Given the description of an element on the screen output the (x, y) to click on. 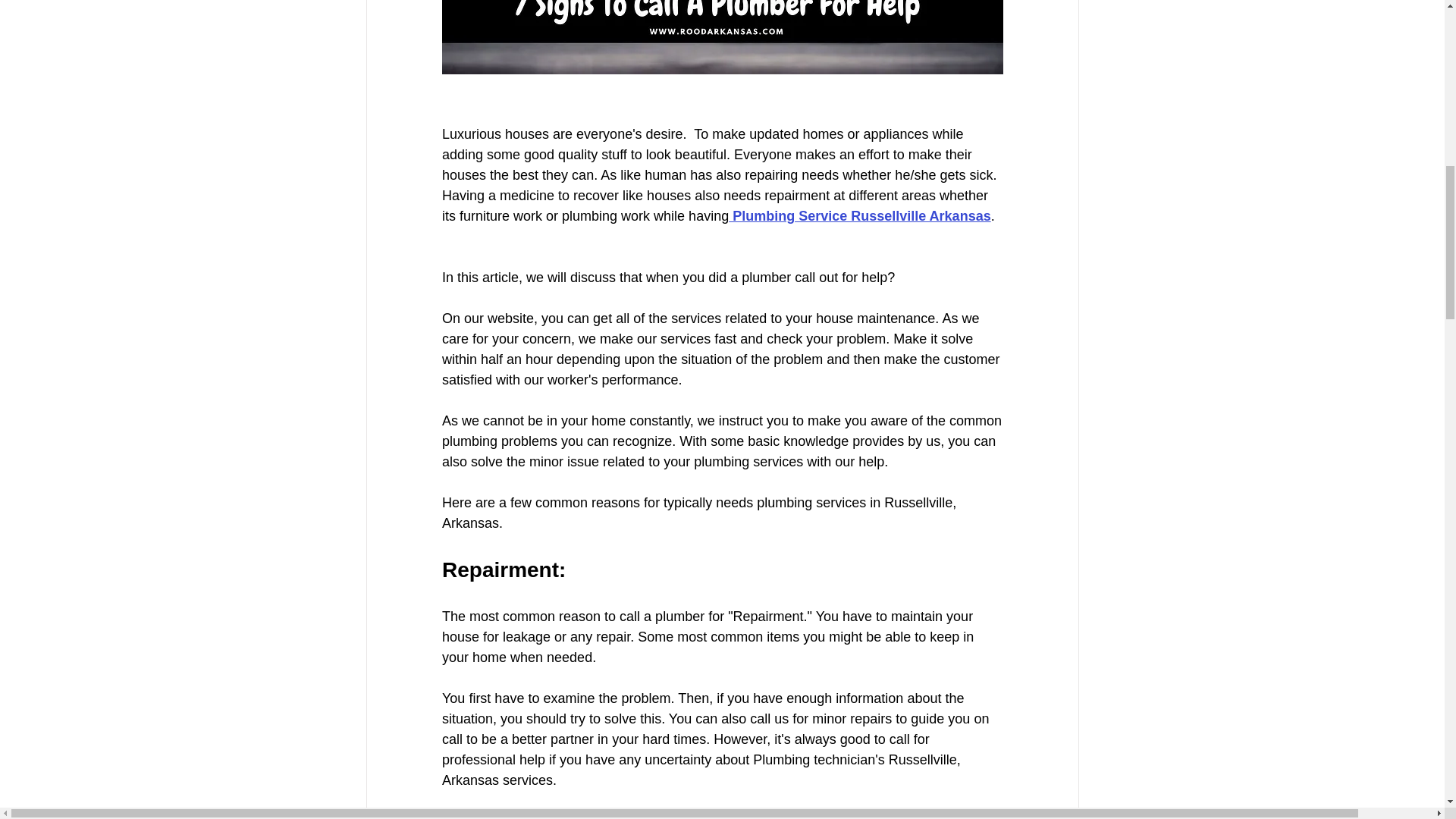
 Plumbing Service Russellville Arkansas (860, 215)
